Given the description of an element on the screen output the (x, y) to click on. 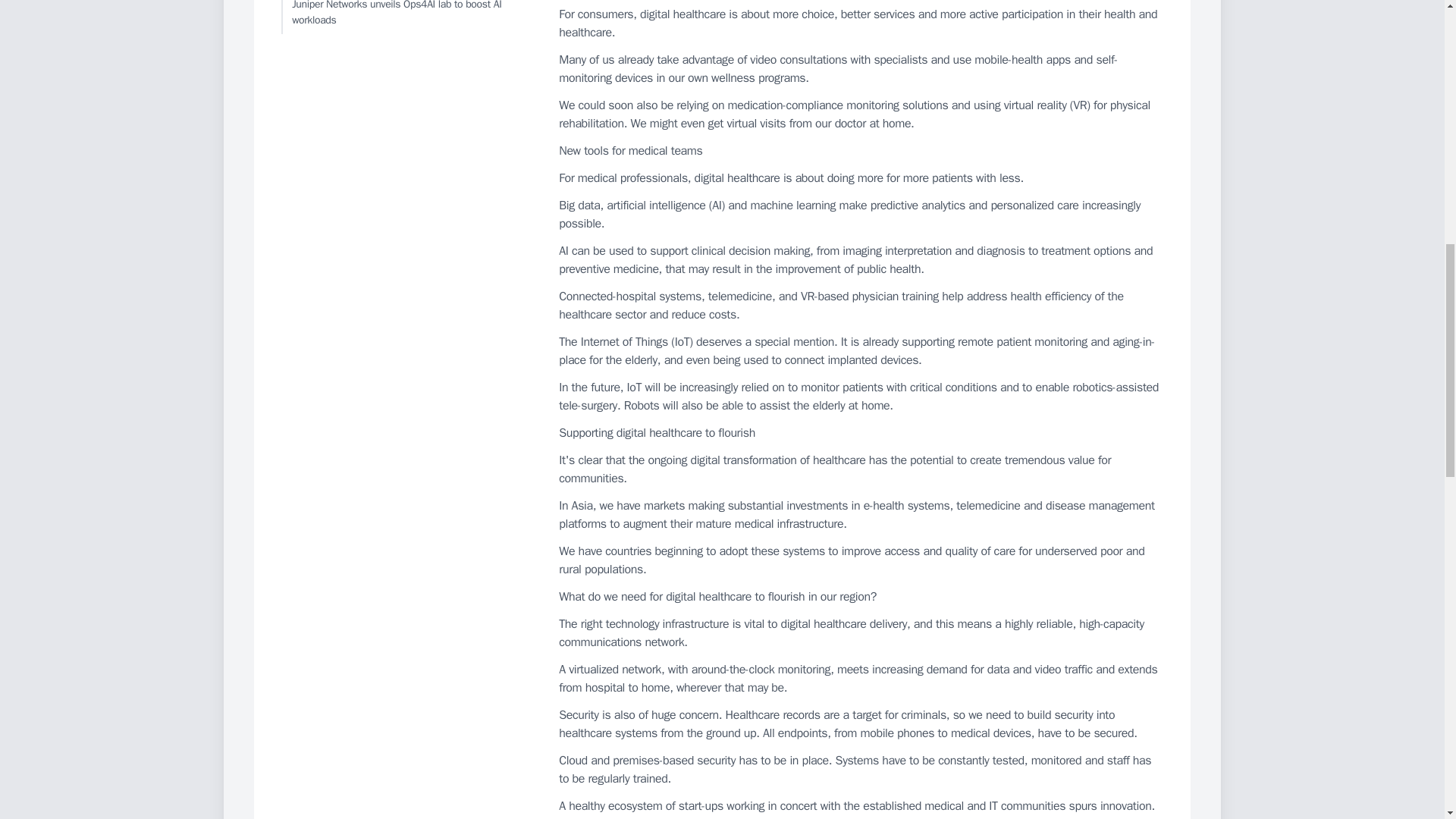
Juniper Networks unveils Ops4AI lab to boost AI workloads (406, 17)
